Given the description of an element on the screen output the (x, y) to click on. 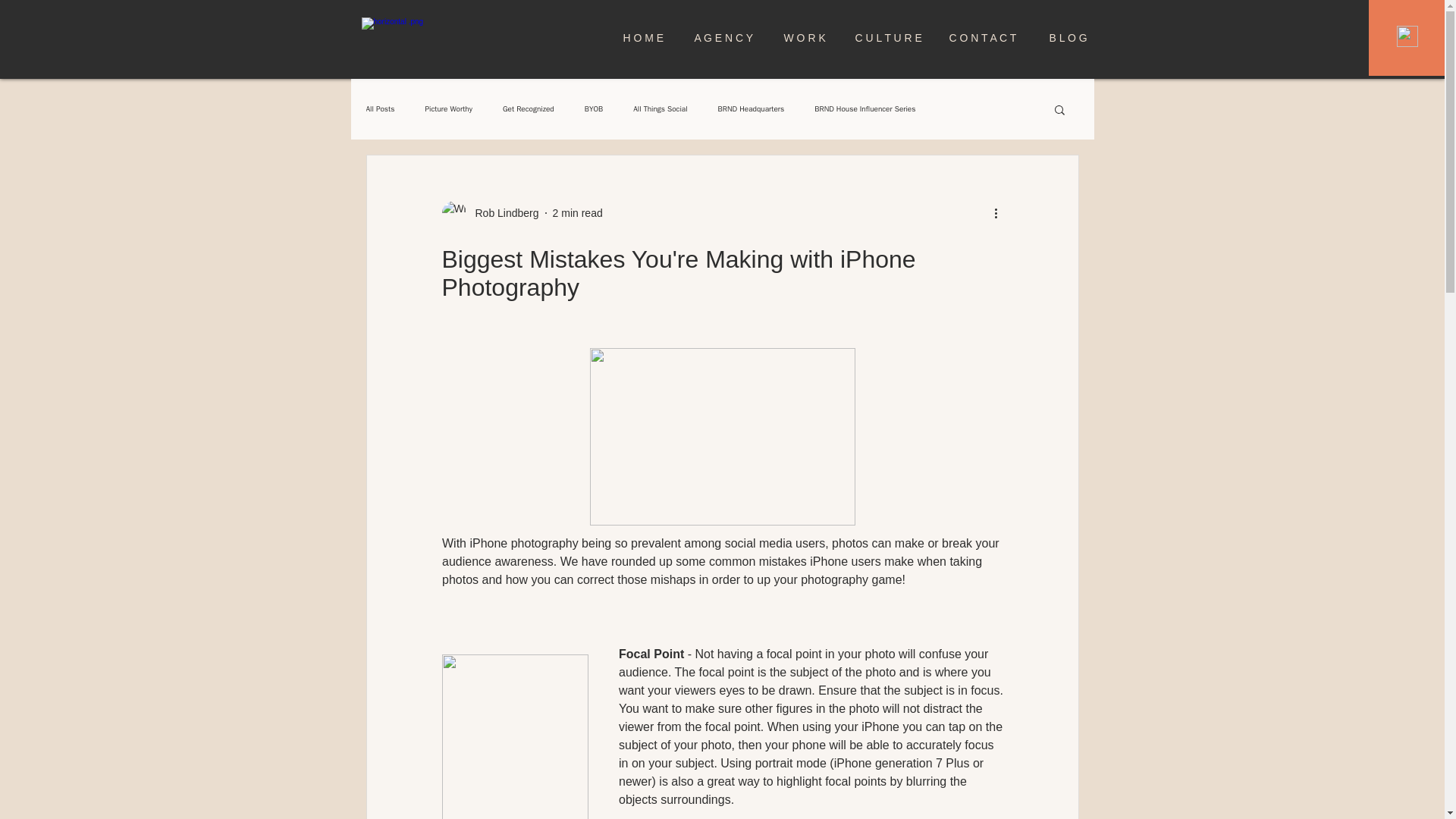
B L O G (1070, 37)
BRND House Influencer Series (864, 109)
Rob Lindberg (501, 212)
A G E N C Y (726, 37)
H O M E (646, 37)
All Things Social (660, 109)
BRND Headquarters (750, 109)
2 min read (577, 212)
Picture Worthy (448, 109)
All Posts (379, 109)
C U L T U R E (890, 37)
C O N T A C T (986, 37)
Get Recognized (528, 109)
BYOB (594, 109)
W O R K (807, 37)
